Given the description of an element on the screen output the (x, y) to click on. 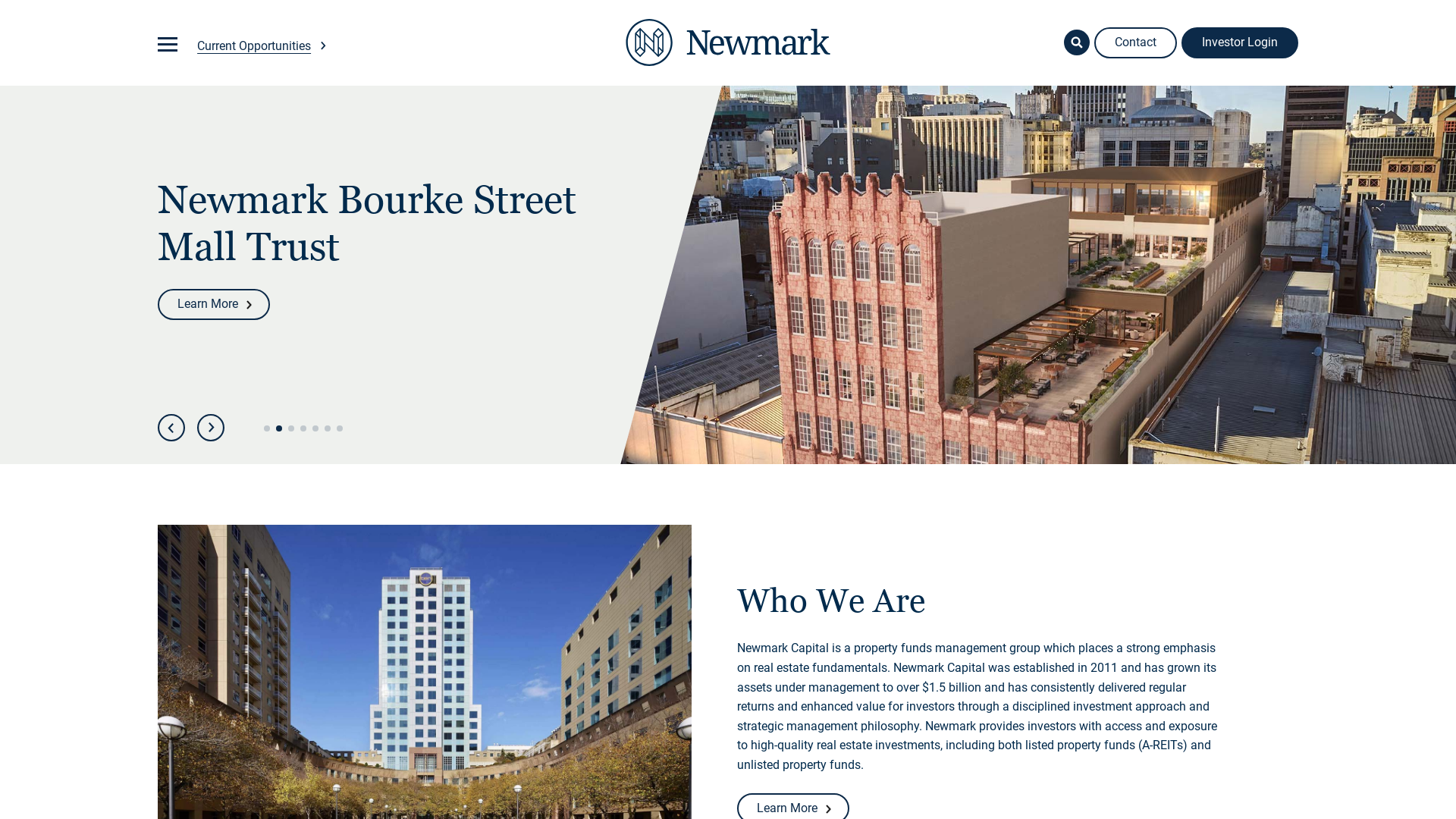
7 Element type: text (340, 425)
6 Element type: text (328, 425)
Previous Element type: text (171, 427)
1 Element type: text (268, 425)
Skip to main content Element type: text (157, 19)
Current Opportunities Element type: text (261, 46)
Next Element type: text (210, 427)
5 Element type: text (316, 425)
Learn More Element type: text (213, 304)
4 Element type: text (304, 425)
2 Element type: text (280, 425)
Investor Login Element type: text (1239, 42)
Contact Element type: text (1135, 42)
3 Element type: text (292, 425)
